Given the description of an element on the screen output the (x, y) to click on. 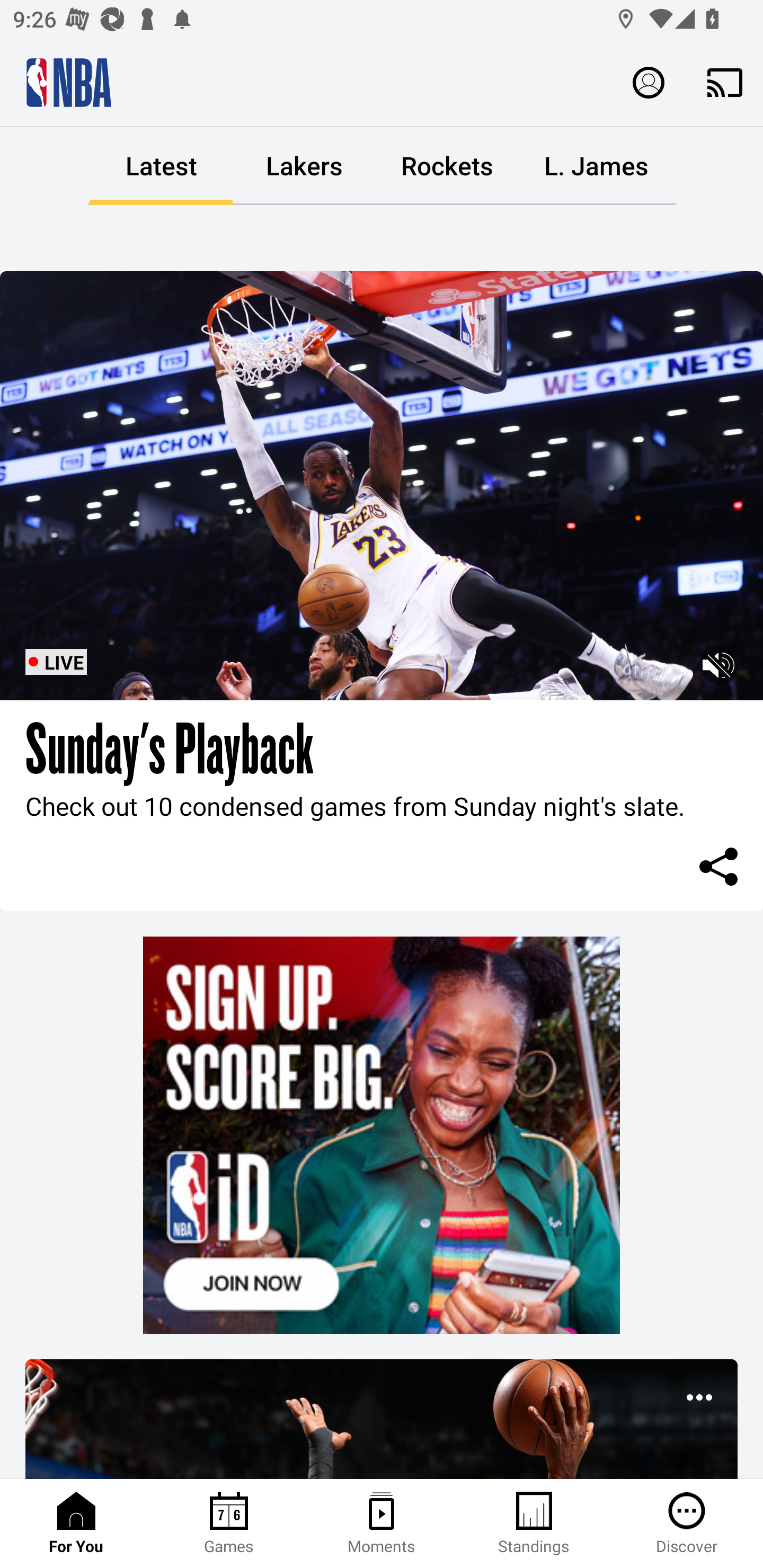
Cast. Disconnected (724, 82)
Profile (648, 81)
Lakers (303, 166)
Rockets (446, 166)
L. James (595, 166)
Games (228, 1523)
Moments (381, 1523)
Standings (533, 1523)
Discover (686, 1523)
